Given the description of an element on the screen output the (x, y) to click on. 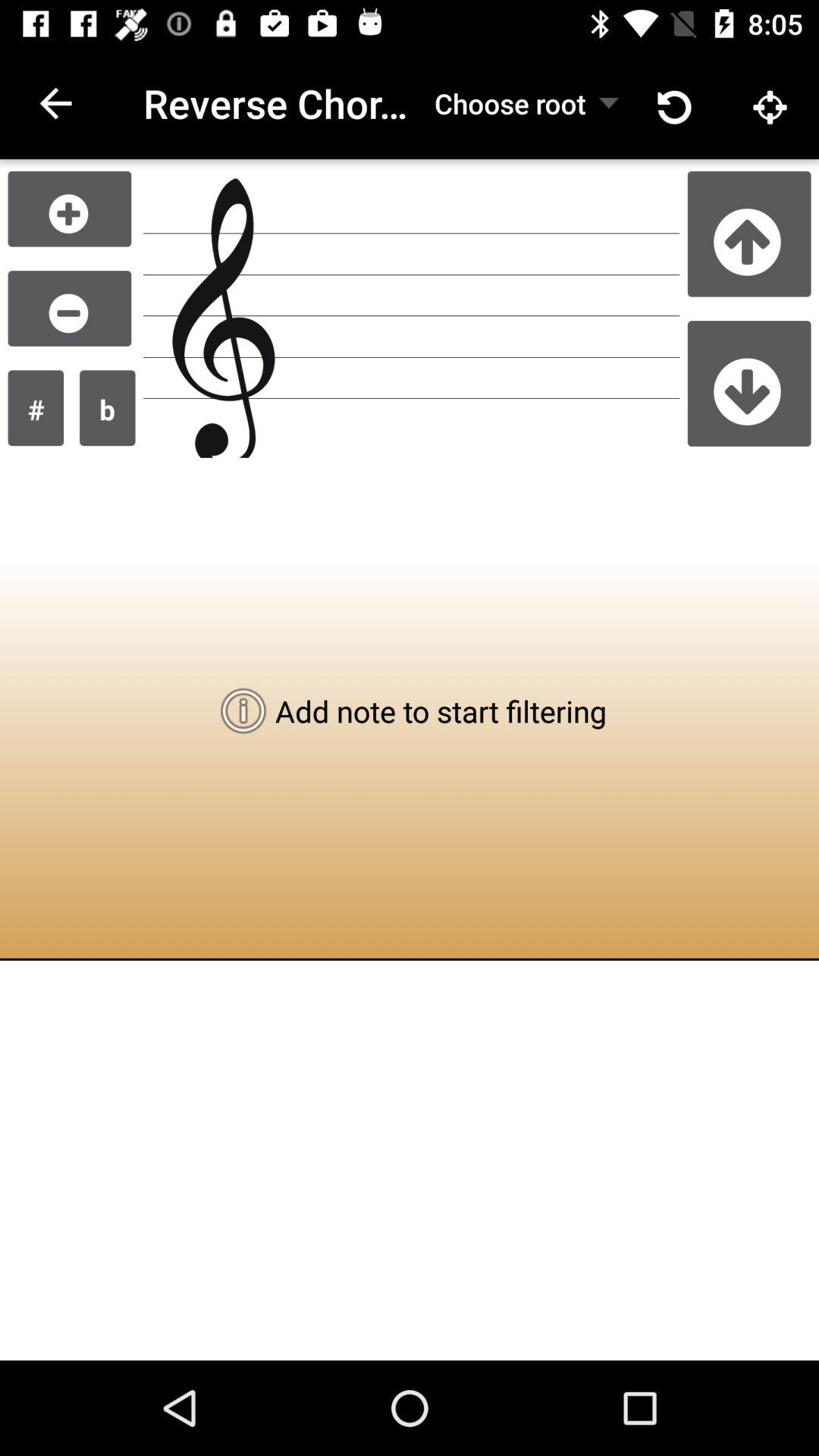
turn on the icon to the right of the reverse chord lookup item (509, 103)
